Given the description of an element on the screen output the (x, y) to click on. 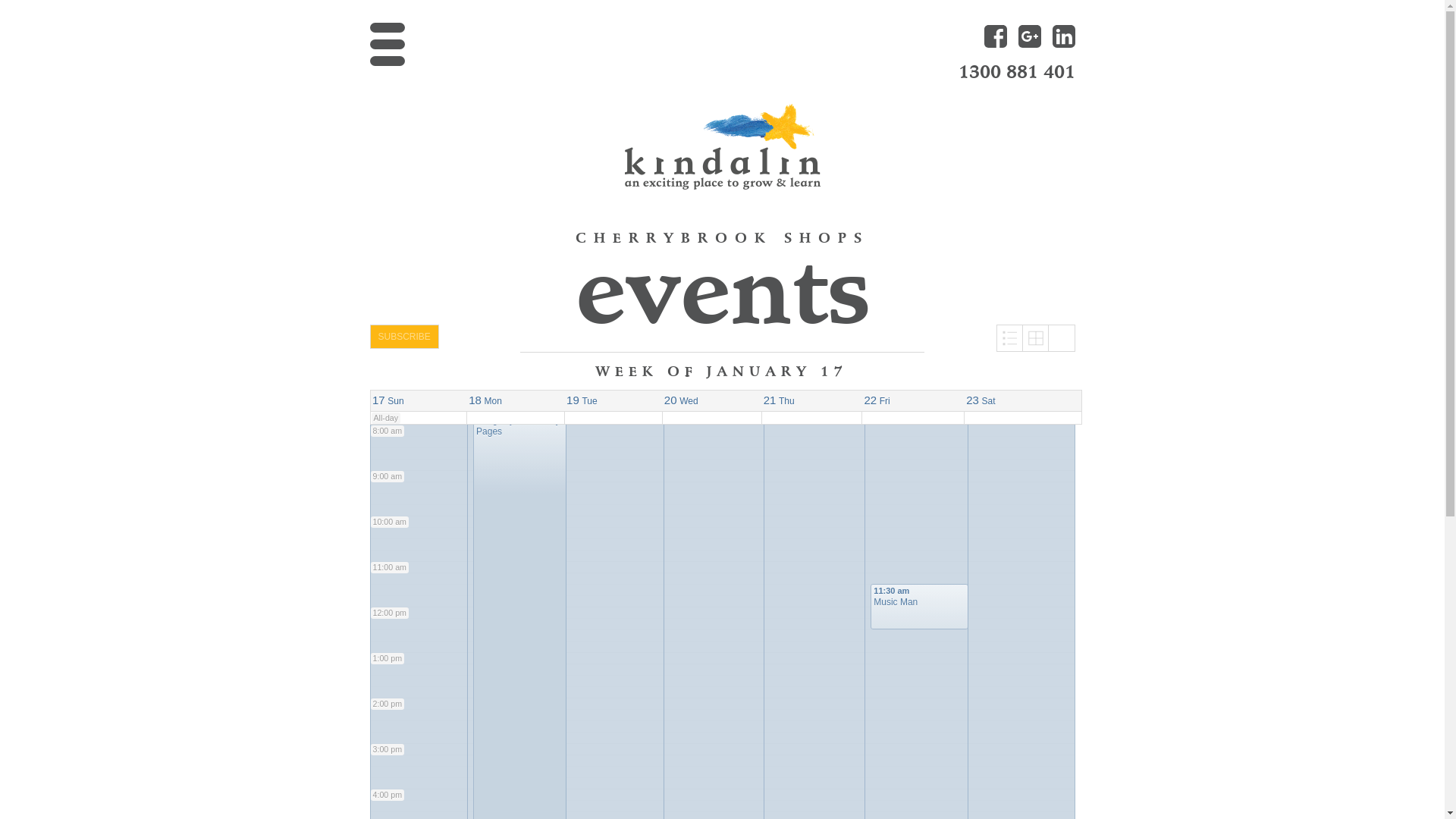
20 Wed Element type: text (681, 400)
18 Mon Element type: text (485, 400)
21 Thu Element type: text (778, 400)
19 Tue Element type: text (581, 400)
17 Sun Element type: text (388, 400)
11:30 am
Music Man Element type: text (919, 606)
linkedin Element type: text (1063, 35)
facebook Element type: text (995, 35)
google plus Element type: text (1028, 35)
22 Fri Element type: text (876, 400)
23 Sat Element type: text (980, 400)
1300 881 401 Element type: text (1016, 71)
Kindalin Element type: text (721, 145)
WEEK OF JANUARY 17 Element type: text (722, 370)
